Given the description of an element on the screen output the (x, y) to click on. 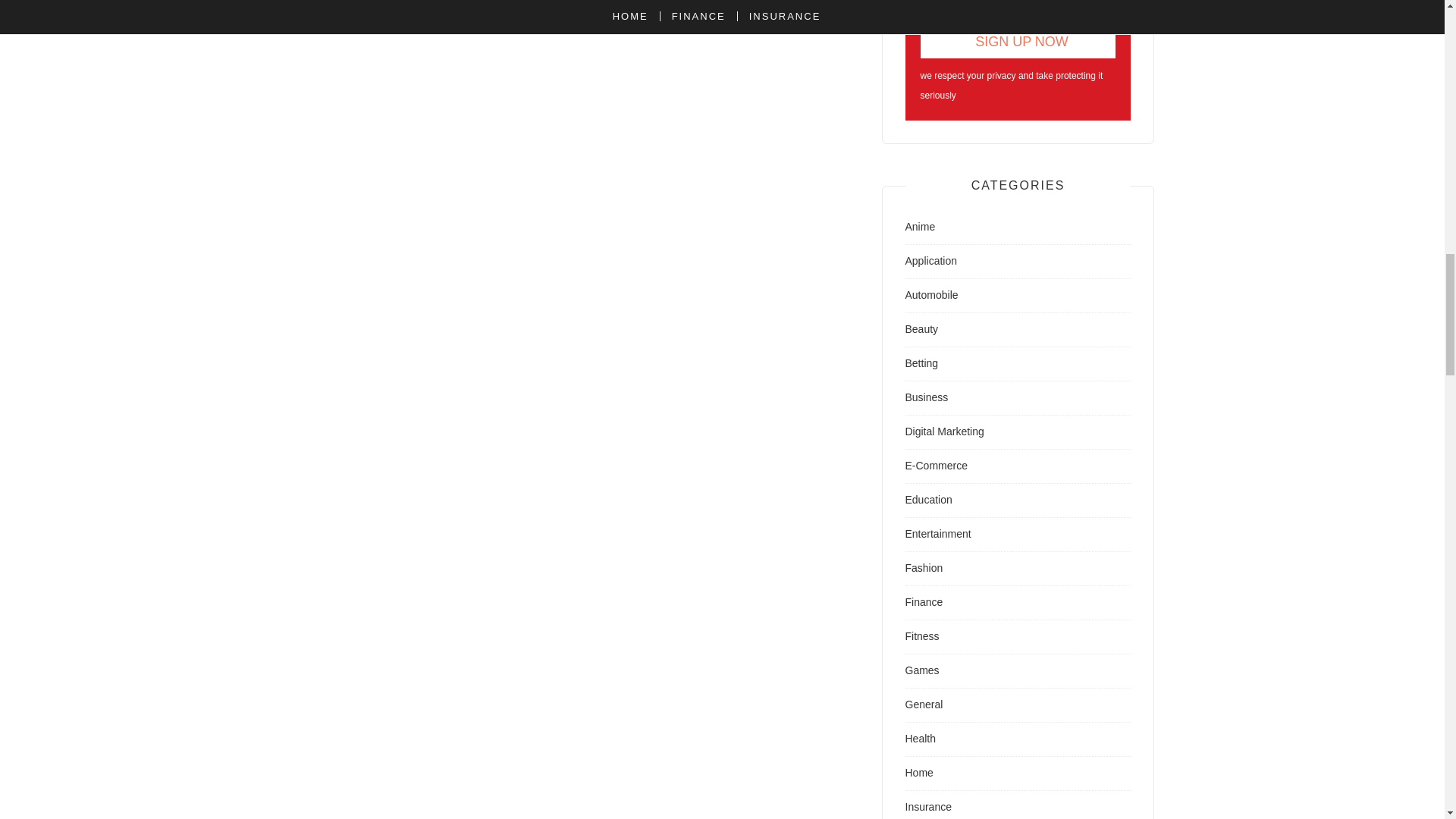
Fitness (922, 635)
Anime (920, 226)
Education (928, 499)
E-Commerce (936, 465)
Finance (924, 602)
Automobile (931, 295)
Sign Up Now (1018, 41)
Games (922, 670)
Entertainment (938, 533)
Digital Marketing (944, 431)
